Given the description of an element on the screen output the (x, y) to click on. 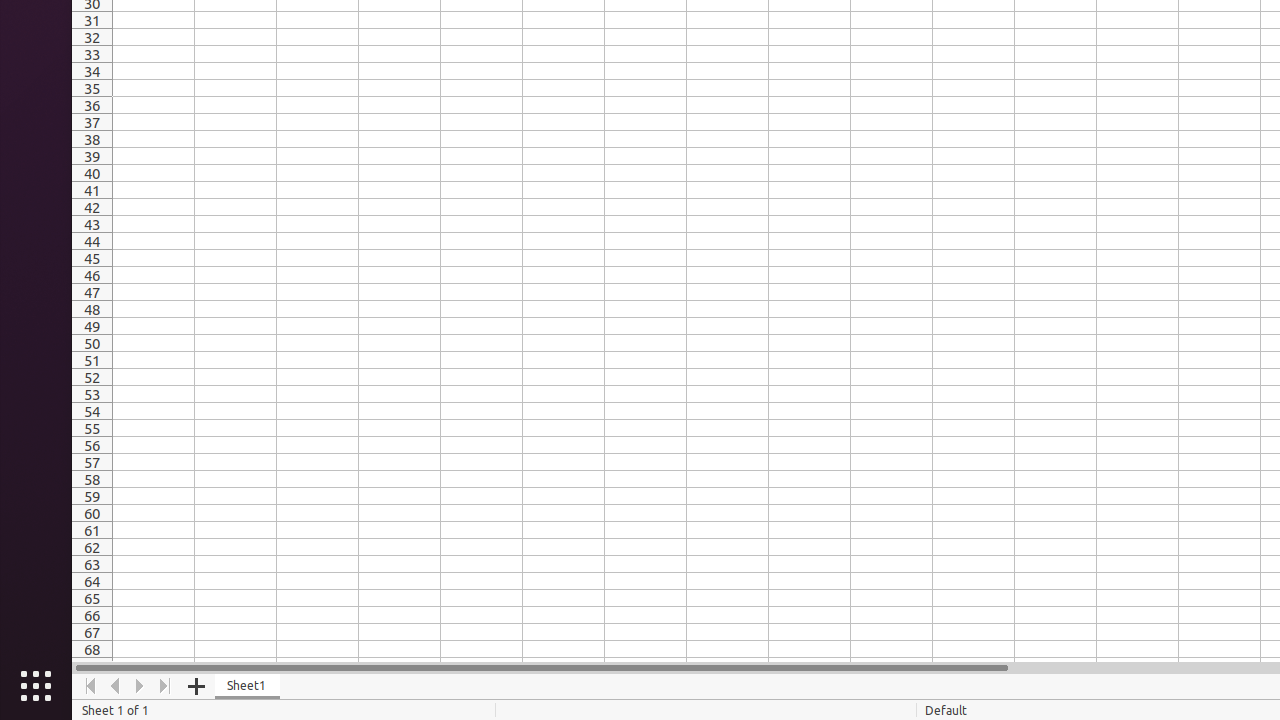
Move Left Element type: push-button (115, 686)
